Given the description of an element on the screen output the (x, y) to click on. 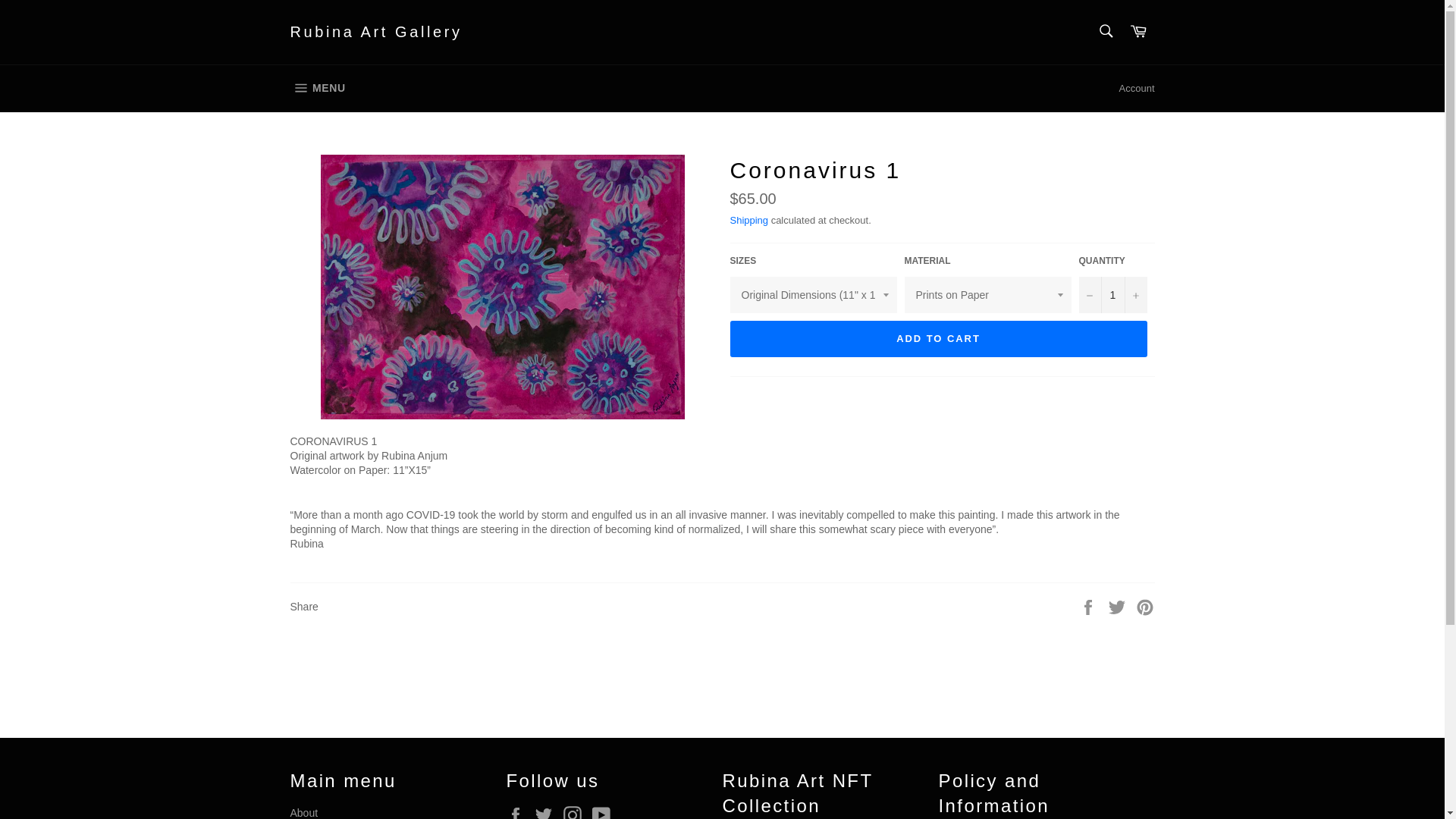
Pin on Pinterest (1144, 605)
Rubina Art Gallery on Twitter (547, 812)
Rubina Art Gallery on Instagram (576, 812)
Rubina Art Gallery on Facebook (519, 812)
1 (1112, 294)
Share on Facebook (1089, 605)
Rubina Art Gallery (375, 32)
Rubina Art Gallery on YouTube (604, 812)
Tweet on Twitter (1118, 605)
